Given the description of an element on the screen output the (x, y) to click on. 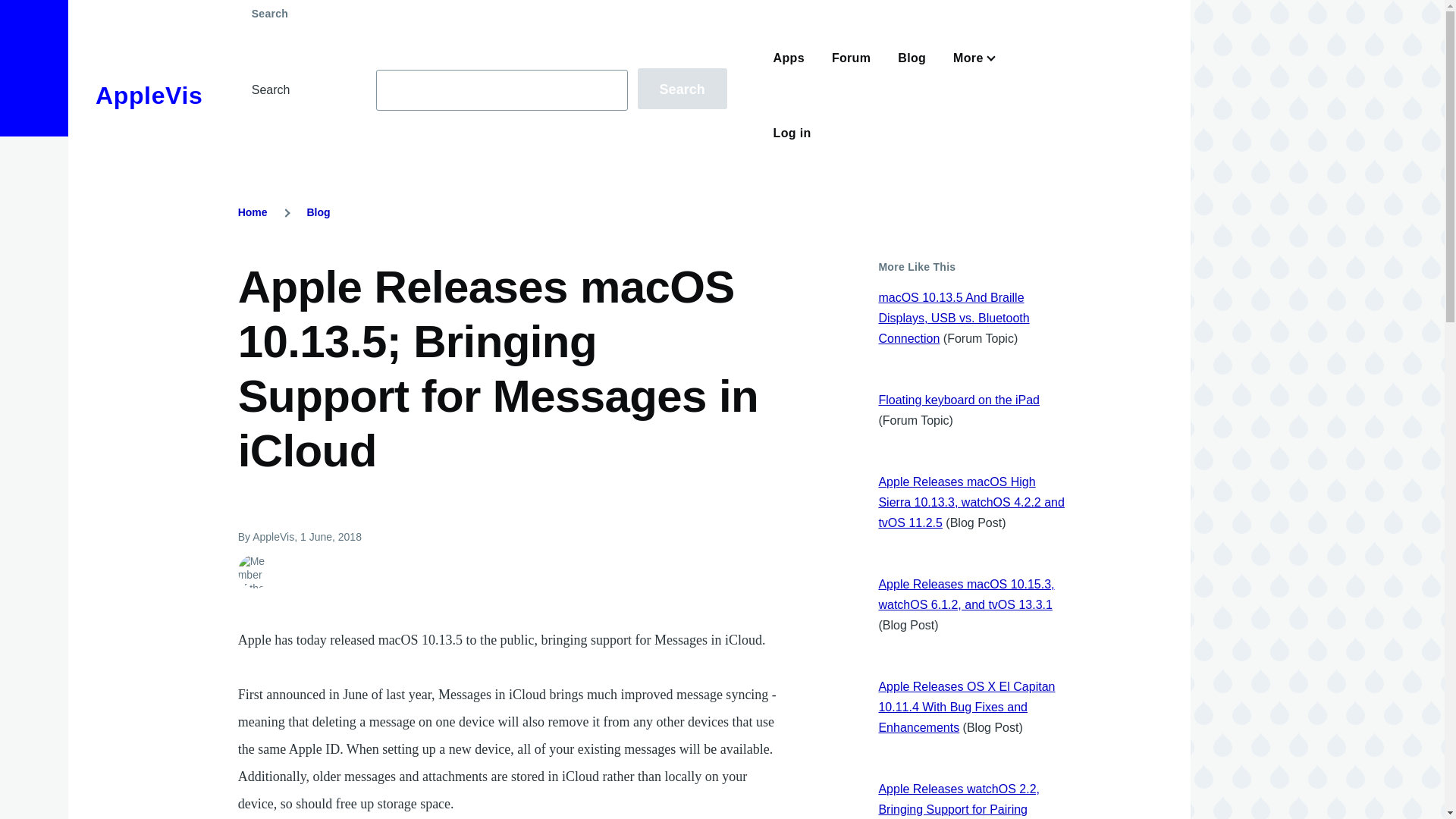
Apple Releases macOS 10.15.3, watchOS 6.1.2, and tvOS 13.3.1 (965, 594)
Blog (317, 212)
Log in (791, 132)
Home (252, 212)
Home (149, 94)
Floating keyboard on the iPad (958, 399)
More community resources (971, 57)
Forum (850, 57)
Search (681, 87)
AppleVis (149, 94)
Blog (912, 57)
Apps (789, 57)
